Given the description of an element on the screen output the (x, y) to click on. 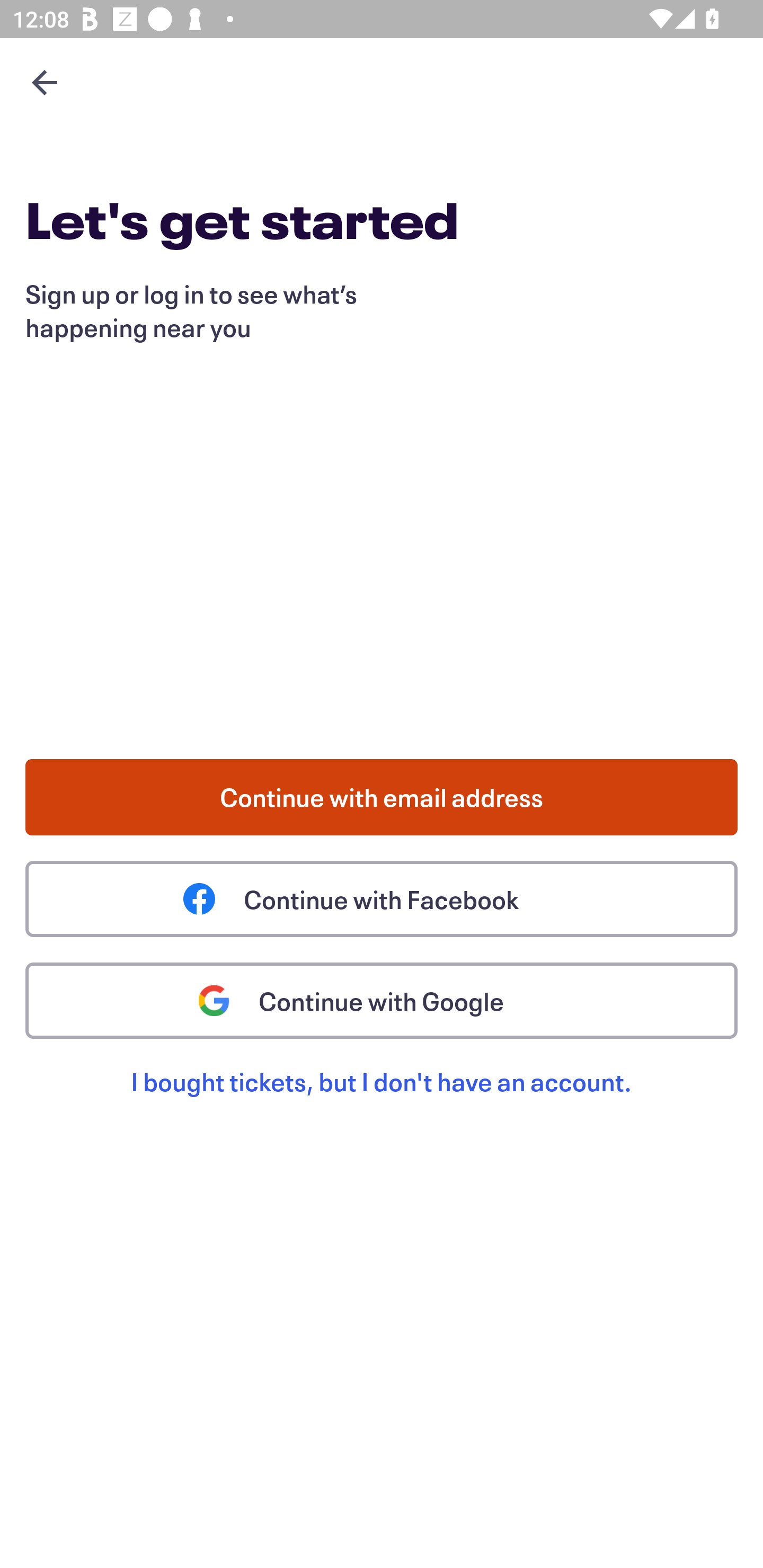
Navigate up (44, 82)
Continue with email address (381, 796)
I bought tickets, but I don't have an account. (381, 1101)
